Given the description of an element on the screen output the (x, y) to click on. 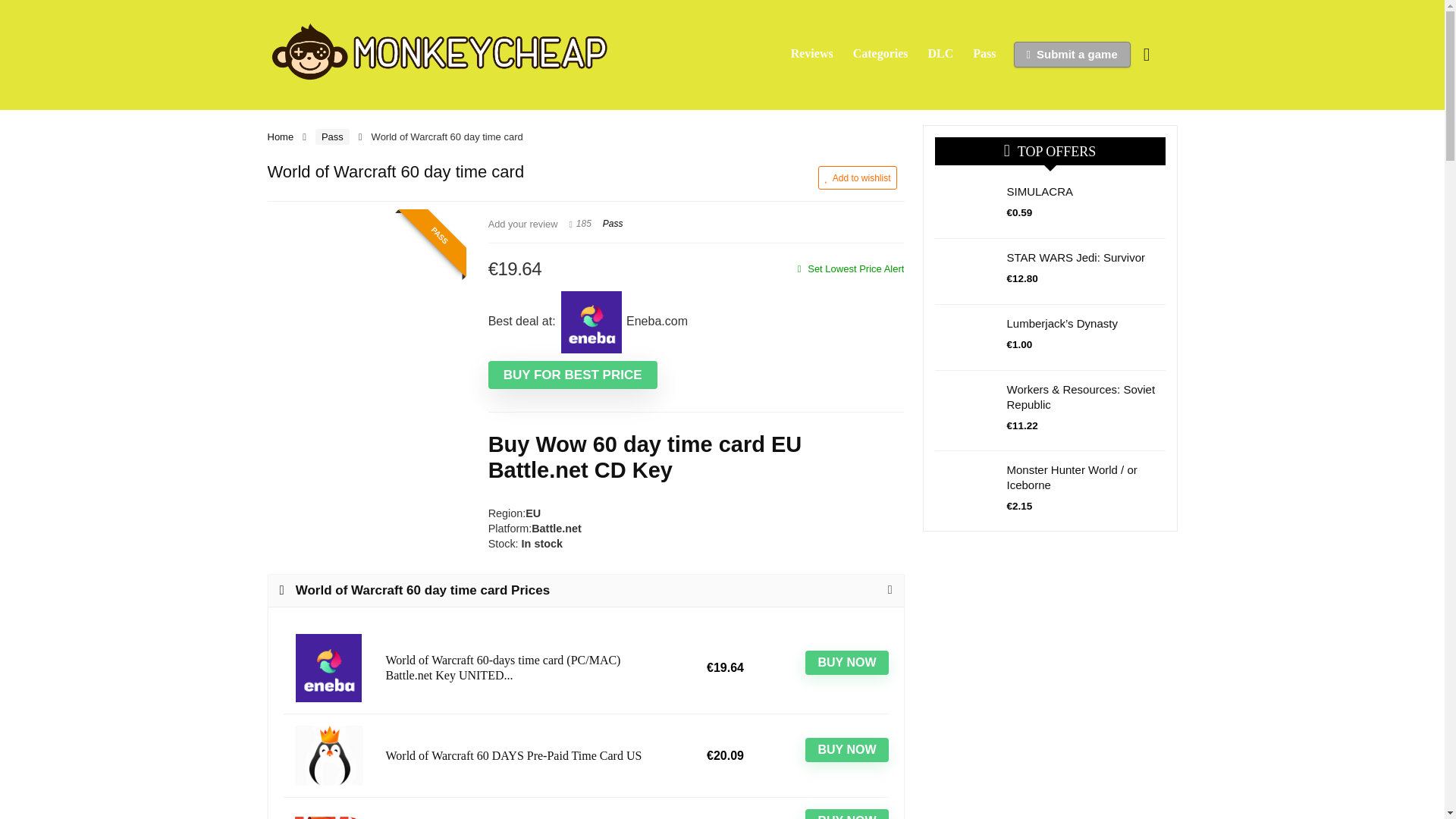
Pass (984, 54)
DLC (940, 54)
BUY NOW (846, 662)
Pass (612, 223)
Reviews (811, 54)
Submit a game (1072, 54)
View all posts in Pass (612, 223)
BUY FOR BEST PRICE (572, 375)
Pass (332, 136)
Add your review (522, 224)
World of Warcraft 60 DAYS Pre-Paid Time Card US (524, 755)
BUY NOW (846, 814)
Home (280, 136)
Categories (880, 54)
BUY NOW (846, 749)
